Given the description of an element on the screen output the (x, y) to click on. 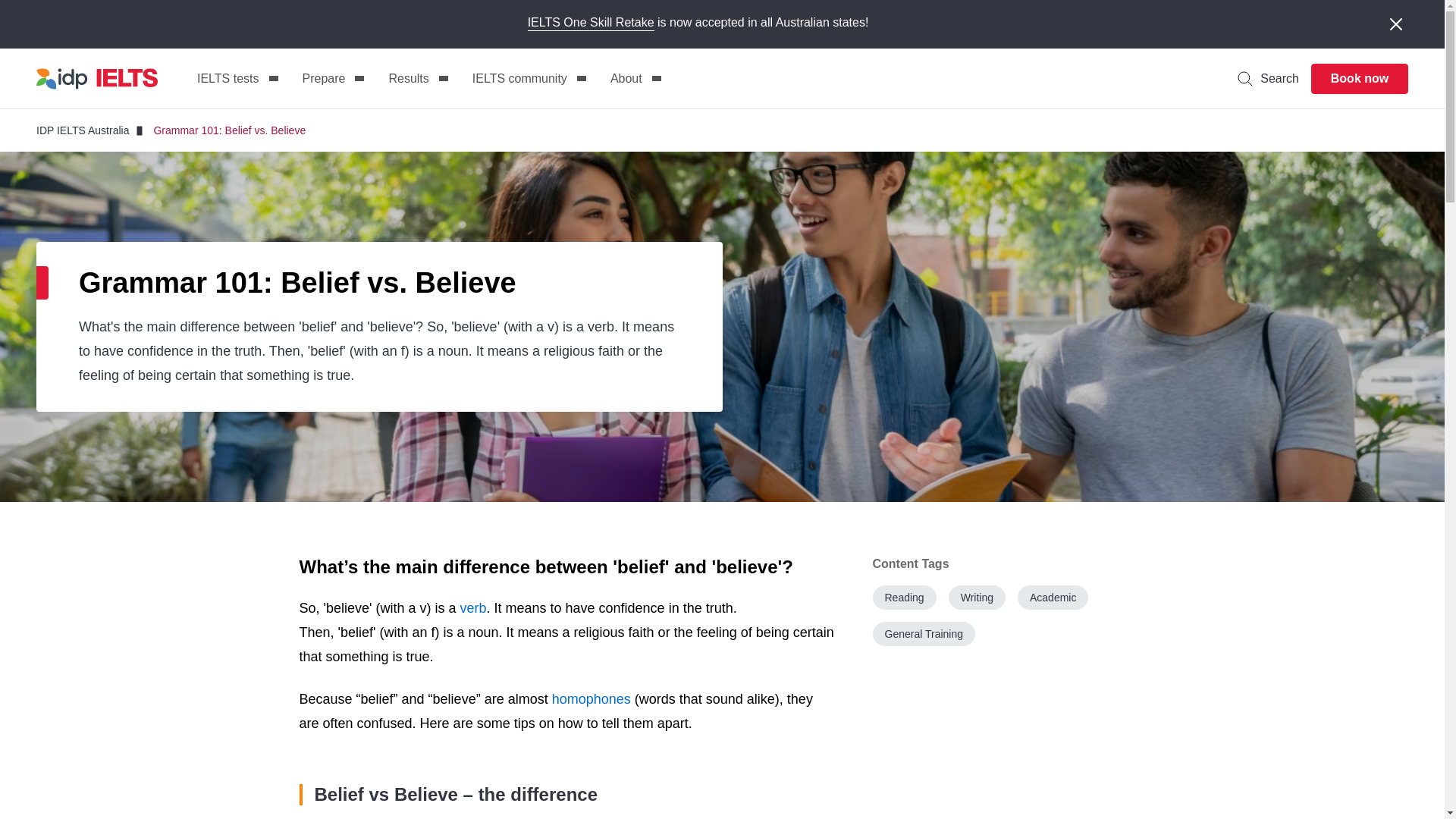
IELTS tests (236, 78)
IELTS One Skill Retake (590, 23)
IELTS tests (236, 78)
IDP IELTS (96, 78)
